Given the description of an element on the screen output the (x, y) to click on. 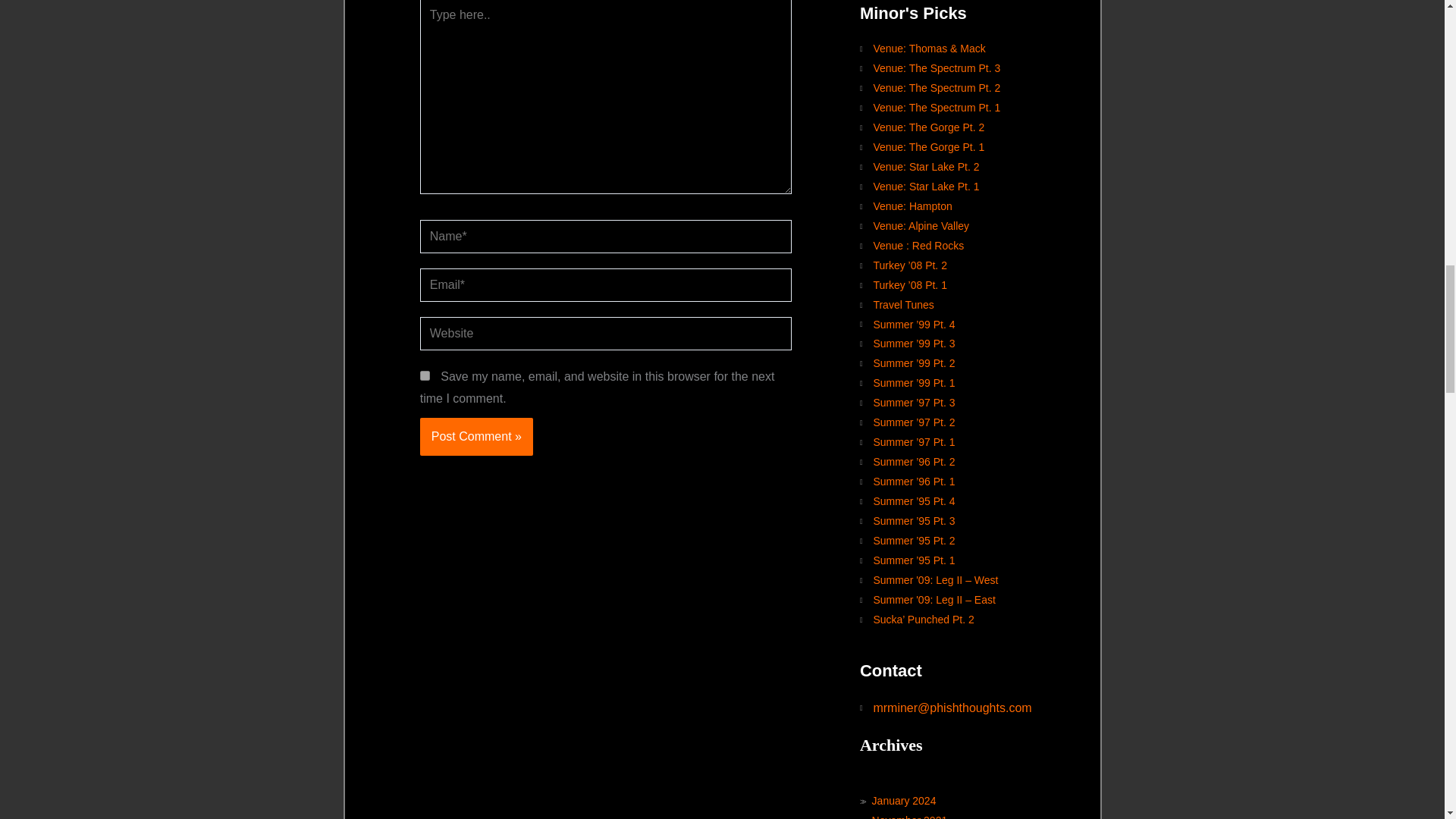
yes (424, 375)
